Given the description of an element on the screen output the (x, y) to click on. 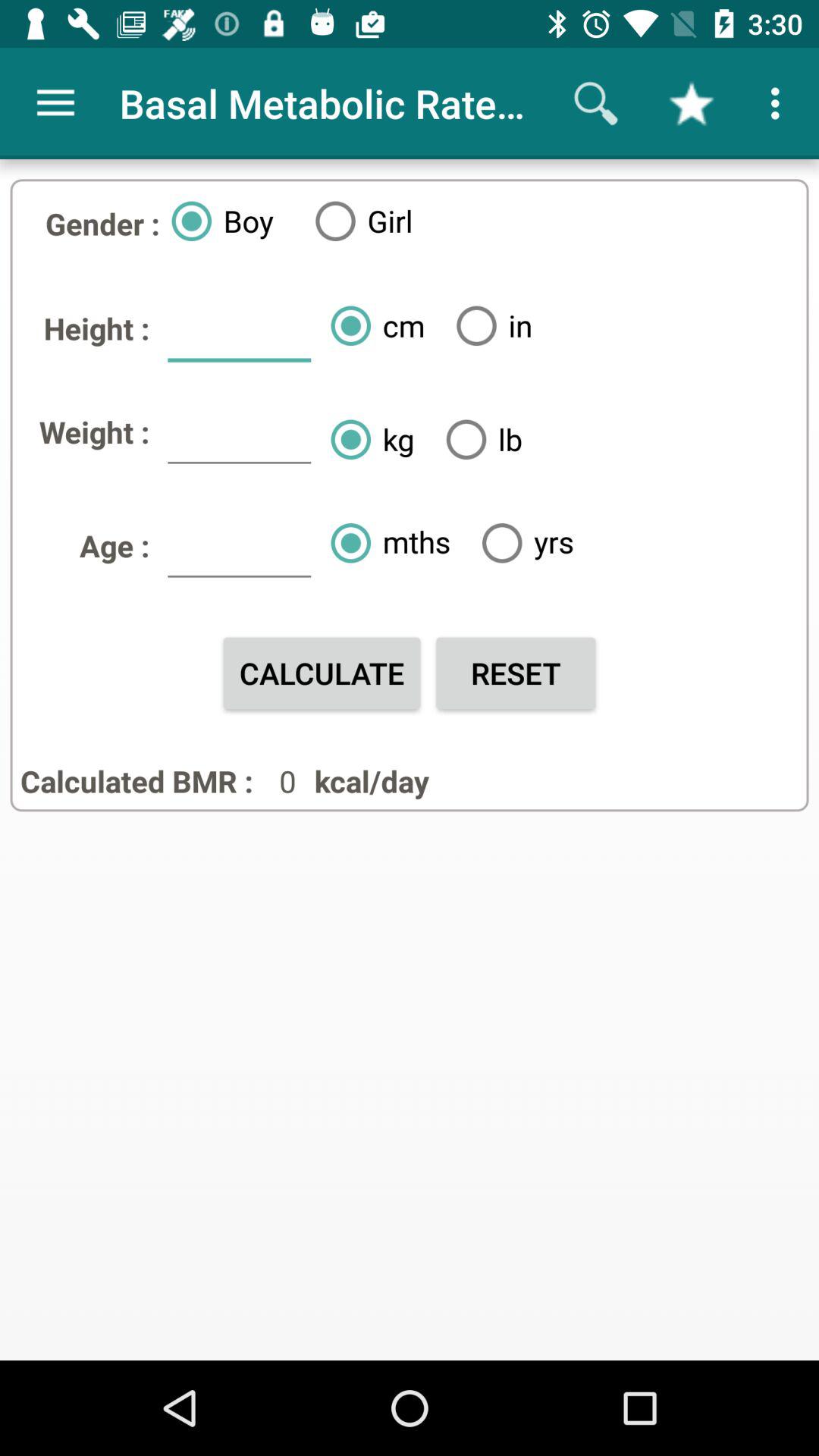
press the item to the left of reset (321, 673)
